Given the description of an element on the screen output the (x, y) to click on. 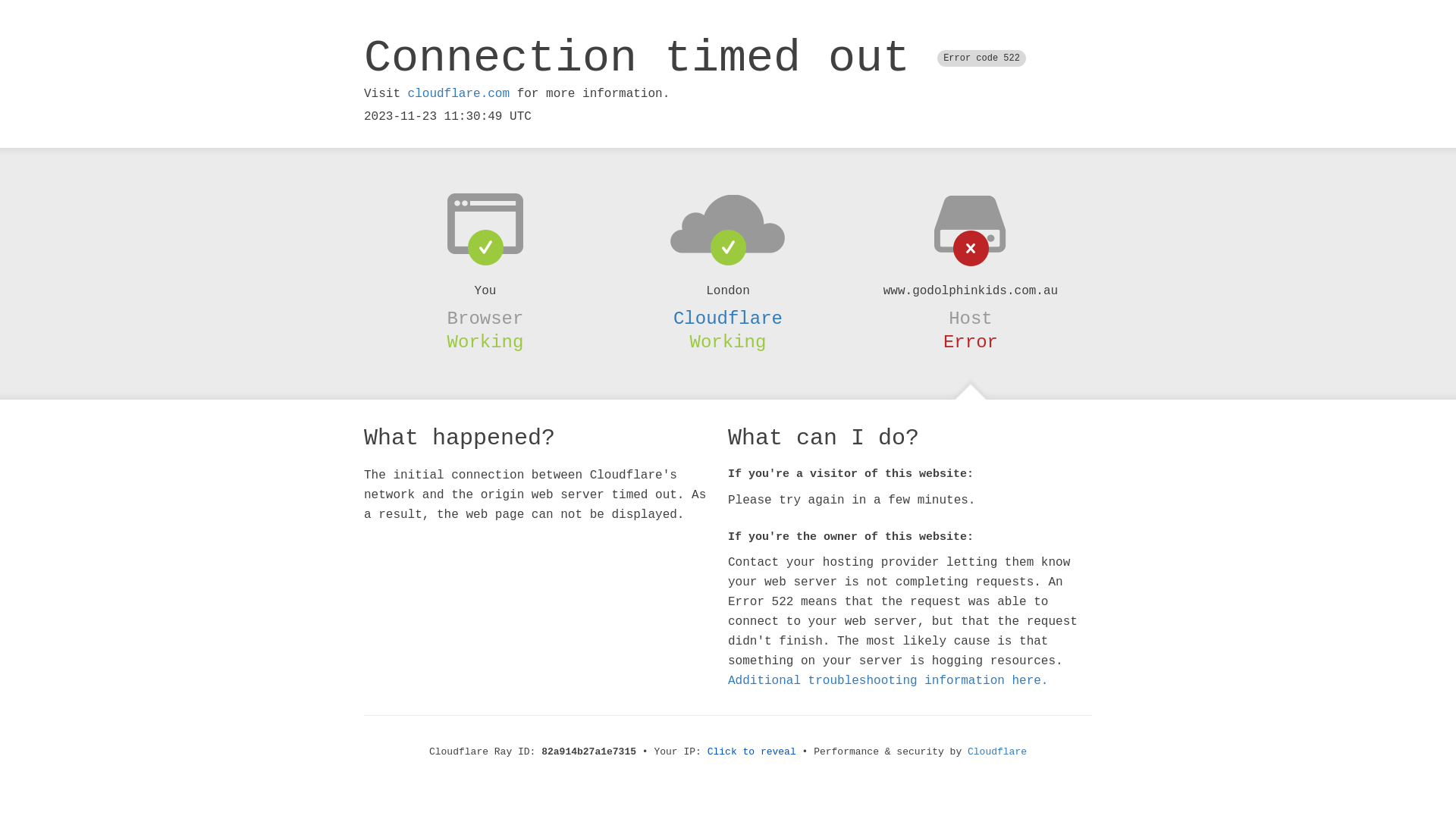
Cloudflare Element type: text (996, 751)
Additional troubleshooting information here. Element type: text (888, 680)
Cloudflare Element type: text (727, 318)
cloudflare.com Element type: text (458, 93)
Click to reveal Element type: text (751, 751)
